Given the description of an element on the screen output the (x, y) to click on. 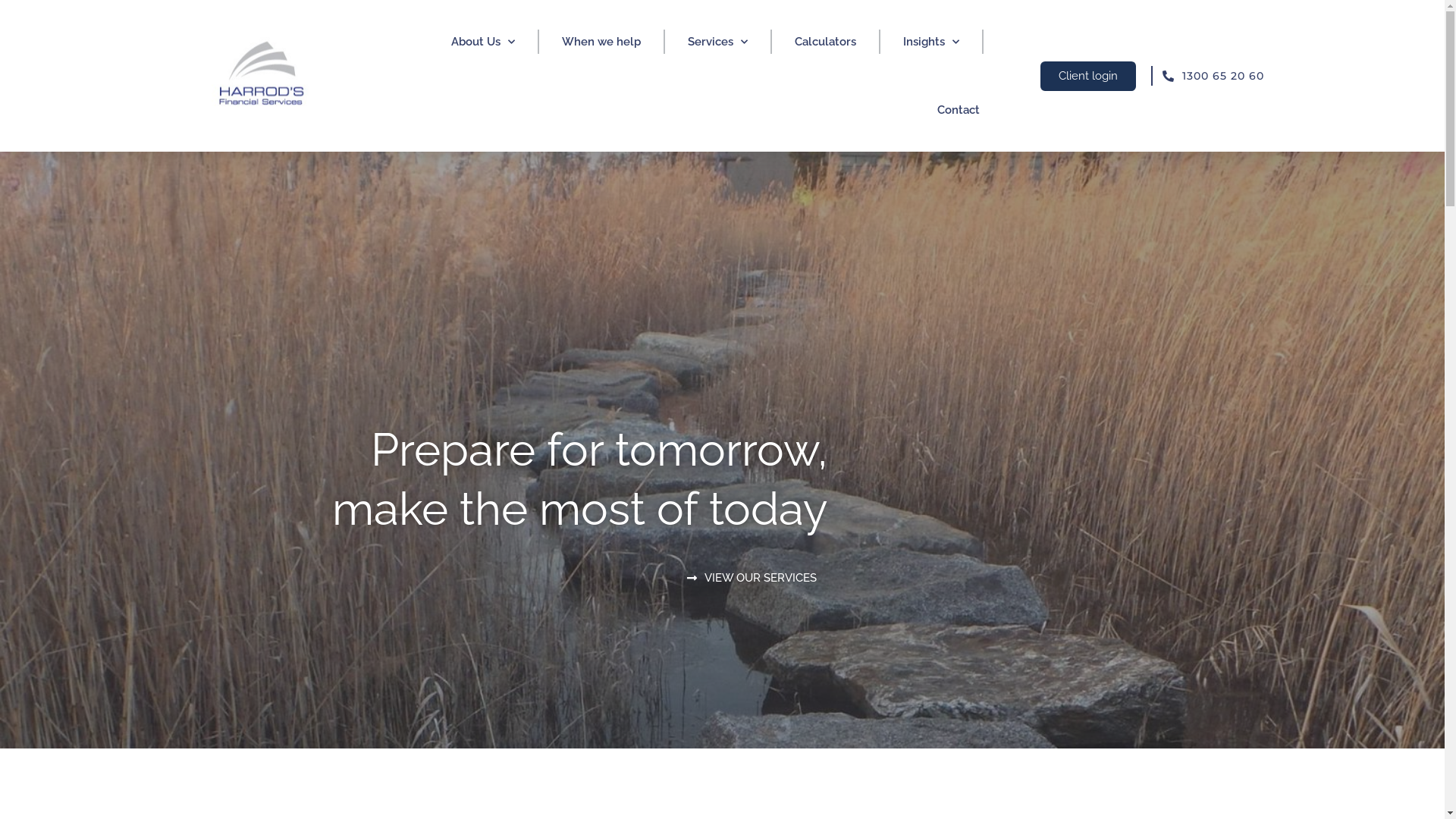
1300 65 20 60 Element type: text (1208, 75)
Harrods_Financial_logo1 Element type: hover (267, 75)
VIEW OUR SERVICES Element type: text (751, 578)
Insights Element type: text (931, 41)
Client login Element type: text (1087, 75)
Contact Element type: text (958, 109)
When we help Element type: text (601, 41)
About Us Element type: text (482, 41)
Calculators Element type: text (824, 41)
Services Element type: text (717, 41)
